Given the description of an element on the screen output the (x, y) to click on. 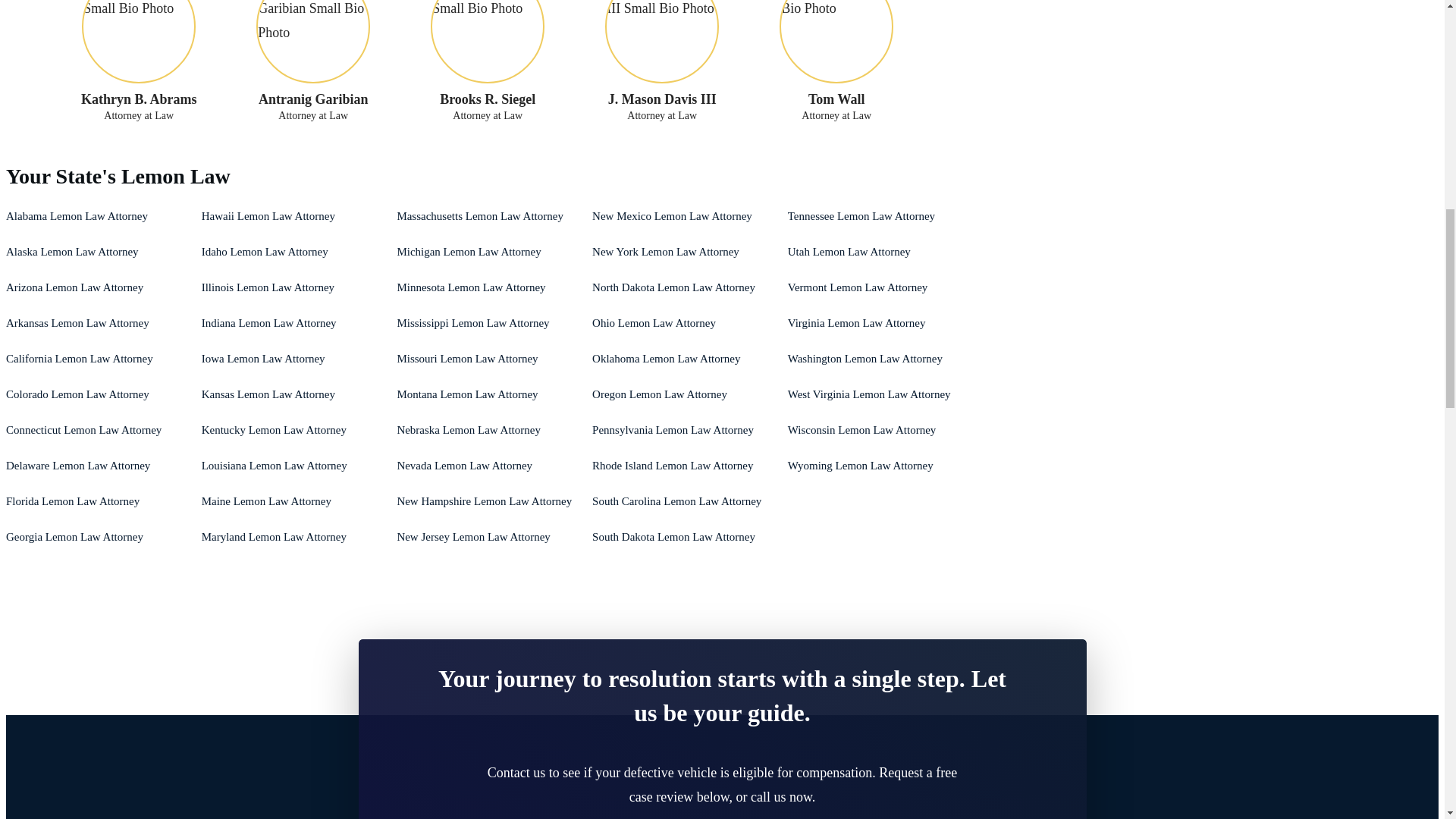
Colorado Lemon Law Attorney (77, 394)
Alabama Lemon Law Attorney (76, 215)
Alaska Lemon Law Attorney (71, 251)
California Lemon Law Attorney (78, 358)
Arkansas Lemon Law Attorney (77, 322)
Arizona Lemon Law Attorney (73, 287)
